Given the description of an element on the screen output the (x, y) to click on. 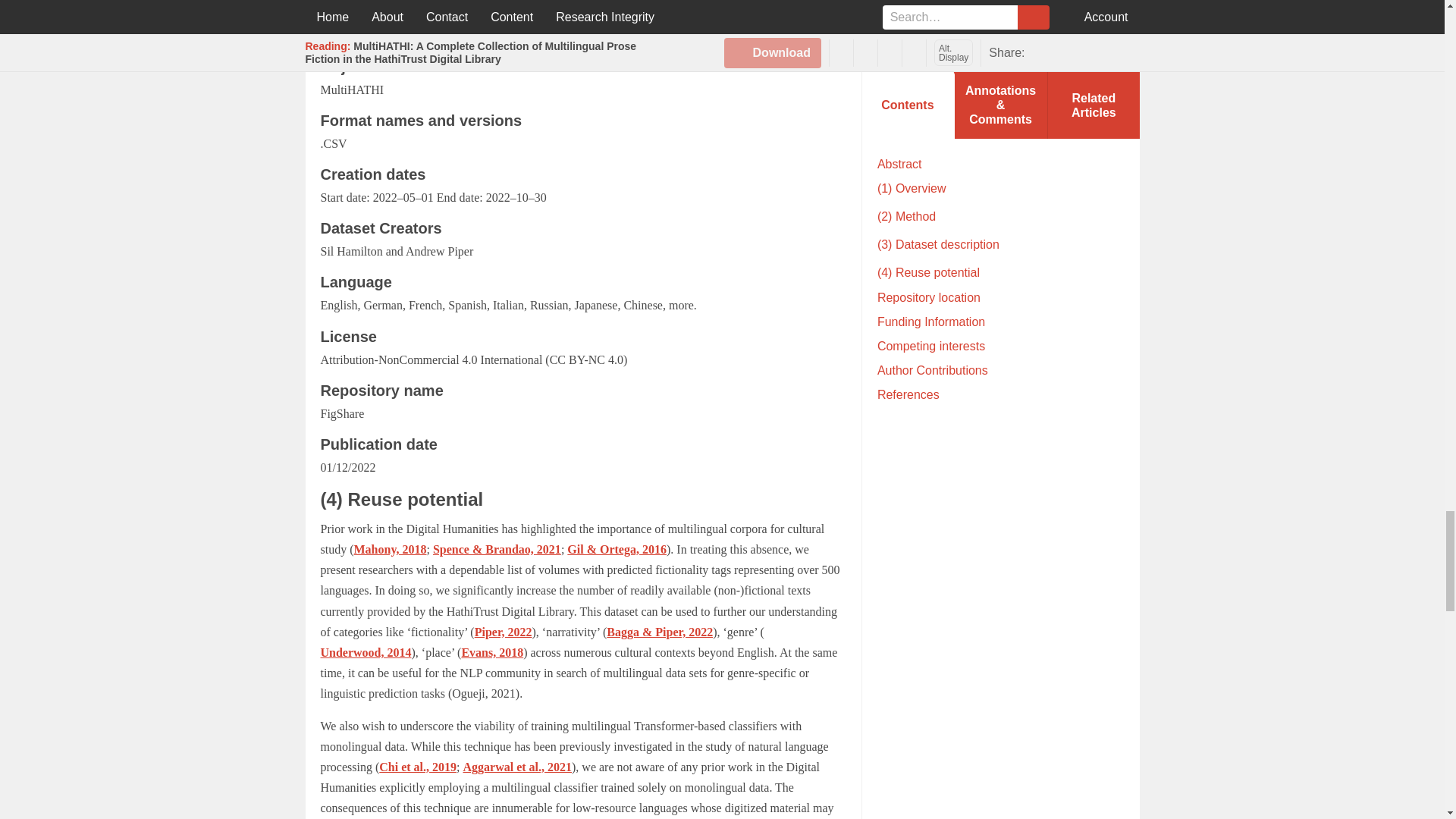
Underwood, 2014 (365, 652)
Aggarwal et al., 2021 (517, 766)
Underwood, 2014 (746, 6)
Piper, 2022 (503, 631)
Chi et al., 2019 (417, 766)
Evans, 2018 (491, 652)
Mahony, 2018 (389, 549)
